Given the description of an element on the screen output the (x, y) to click on. 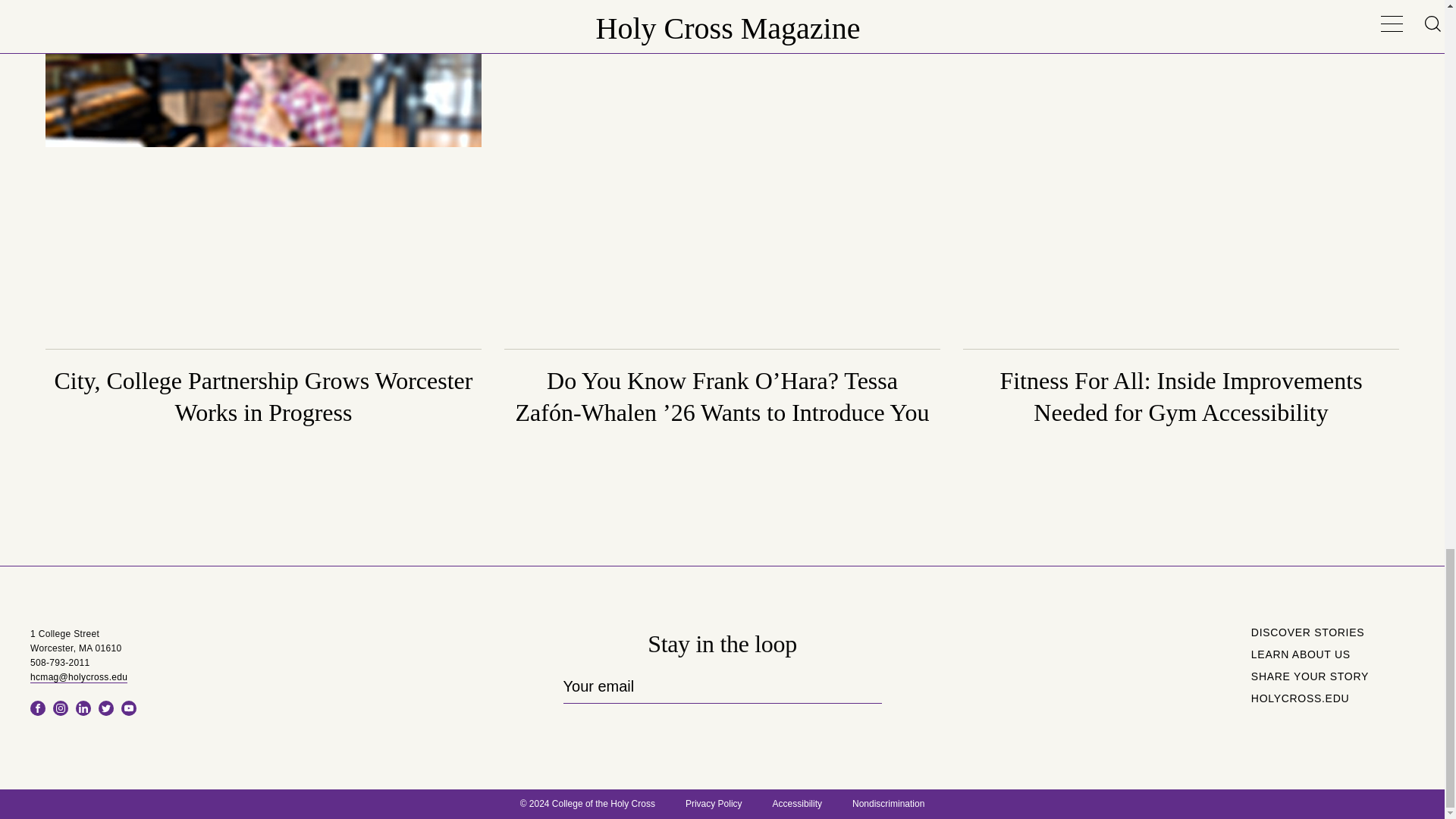
Facebook (37, 708)
Instagram (60, 708)
LinkedIn (82, 708)
